Given the description of an element on the screen output the (x, y) to click on. 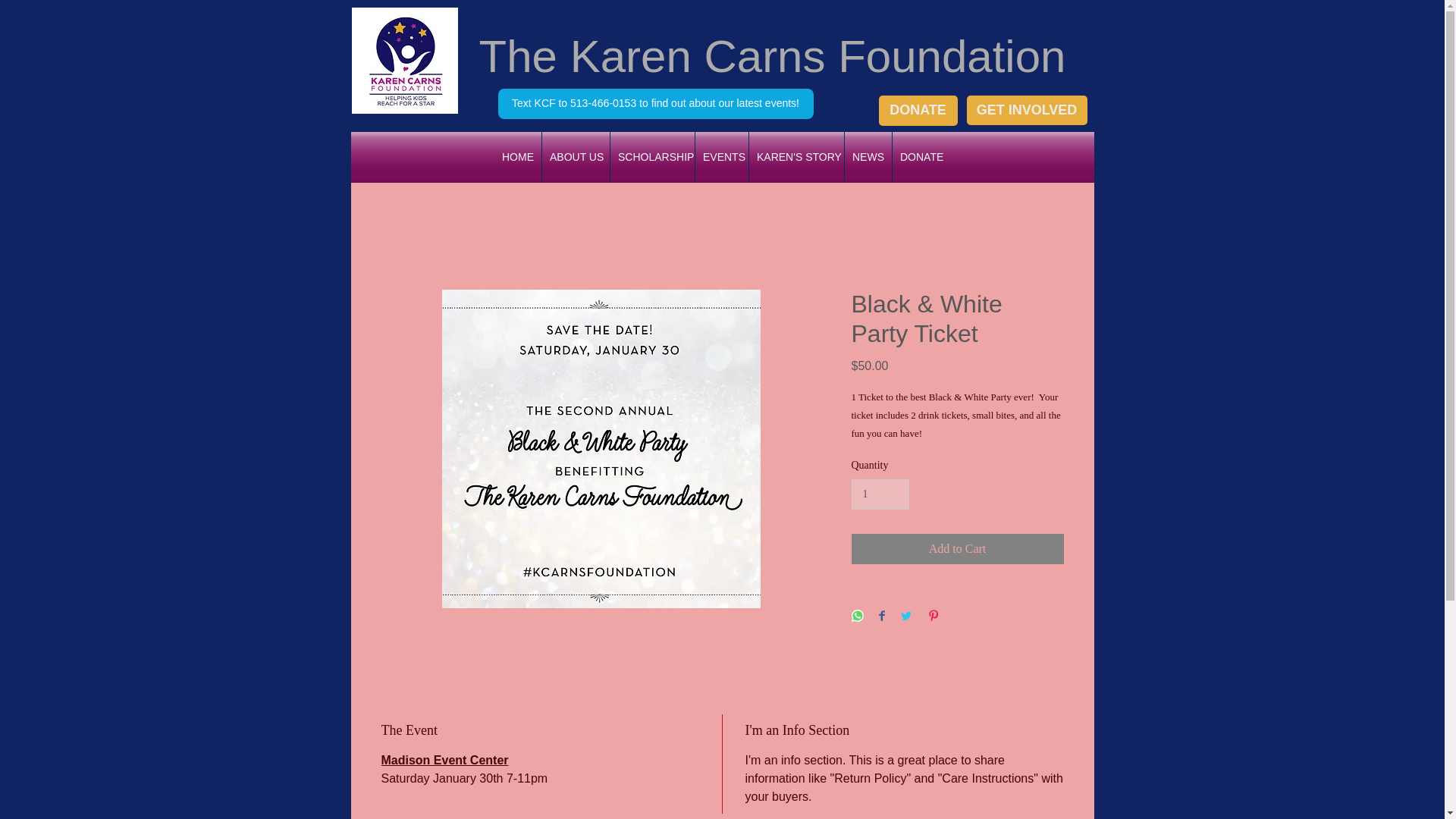
HOME (518, 156)
DONATE (921, 156)
ABOUT US (575, 156)
SCHOLARSHIP (652, 156)
KAREN'S STORY (796, 156)
NEWS (867, 156)
Madison Event Center (444, 759)
Add to Cart (956, 548)
DONATE (916, 110)
EVENTS (721, 156)
GET INVOLVED (1026, 110)
1 (879, 494)
The Karen Carns Foundation (772, 56)
